Given the description of an element on the screen output the (x, y) to click on. 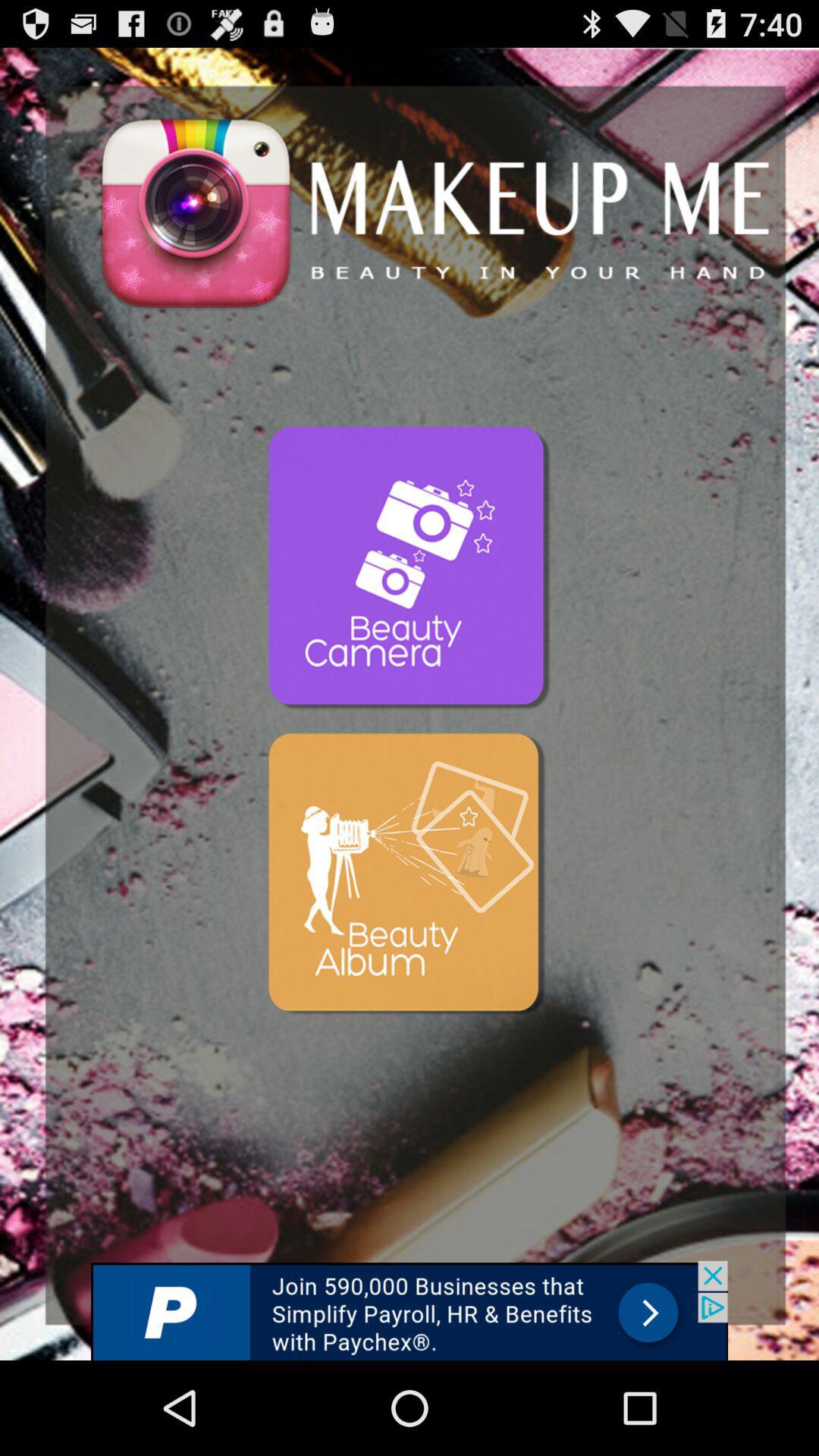
advertisement page (409, 1310)
